Given the description of an element on the screen output the (x, y) to click on. 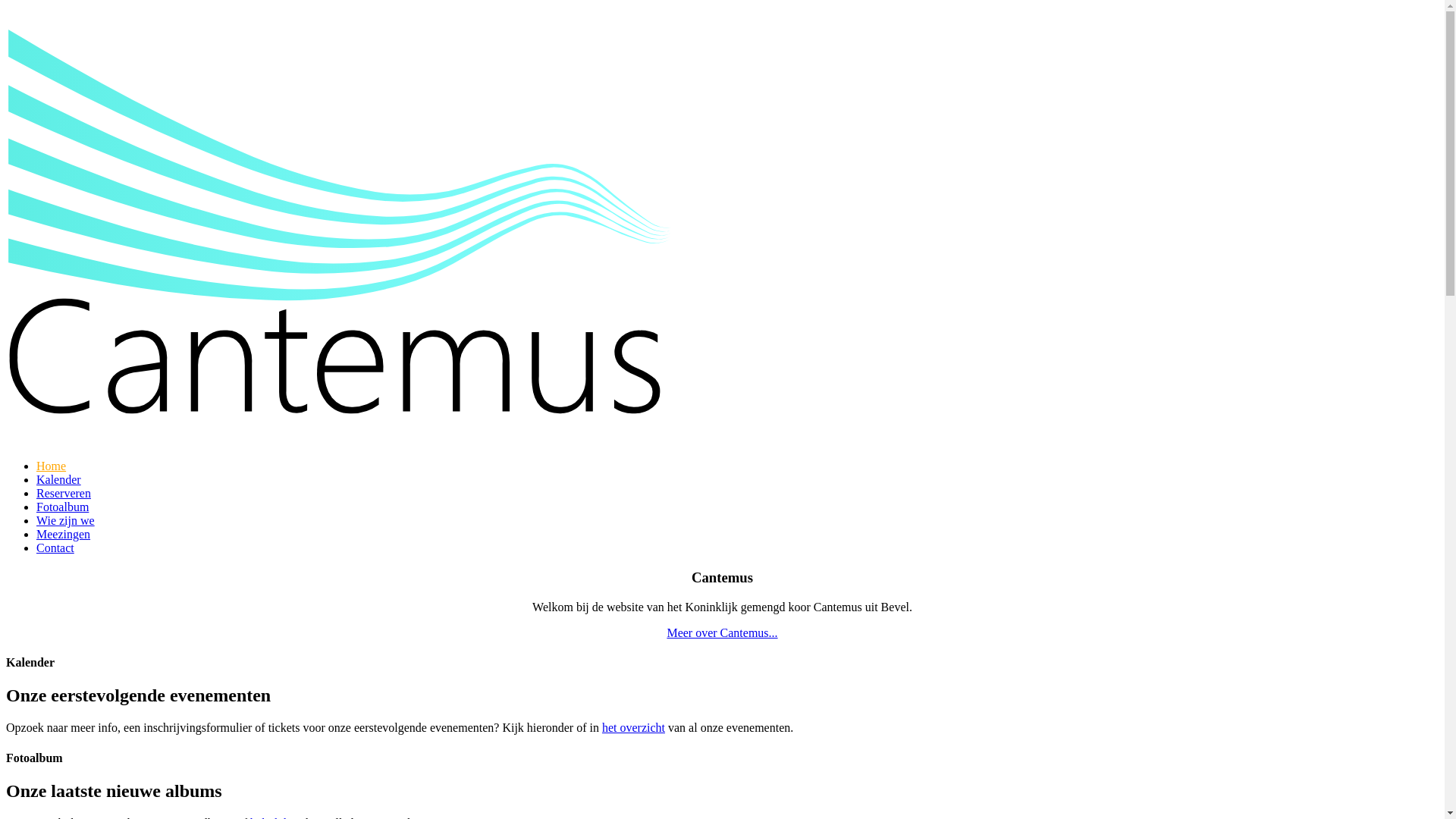
Meer over Cantemus... Element type: text (721, 632)
Wie zijn we Element type: text (65, 520)
Contact Element type: text (55, 547)
Fotoalbum Element type: text (62, 506)
Reserveren Element type: text (63, 492)
Meezingen Element type: text (63, 533)
Home Element type: text (50, 465)
het overzicht Element type: text (633, 727)
Kalender Element type: text (58, 479)
